Given the description of an element on the screen output the (x, y) to click on. 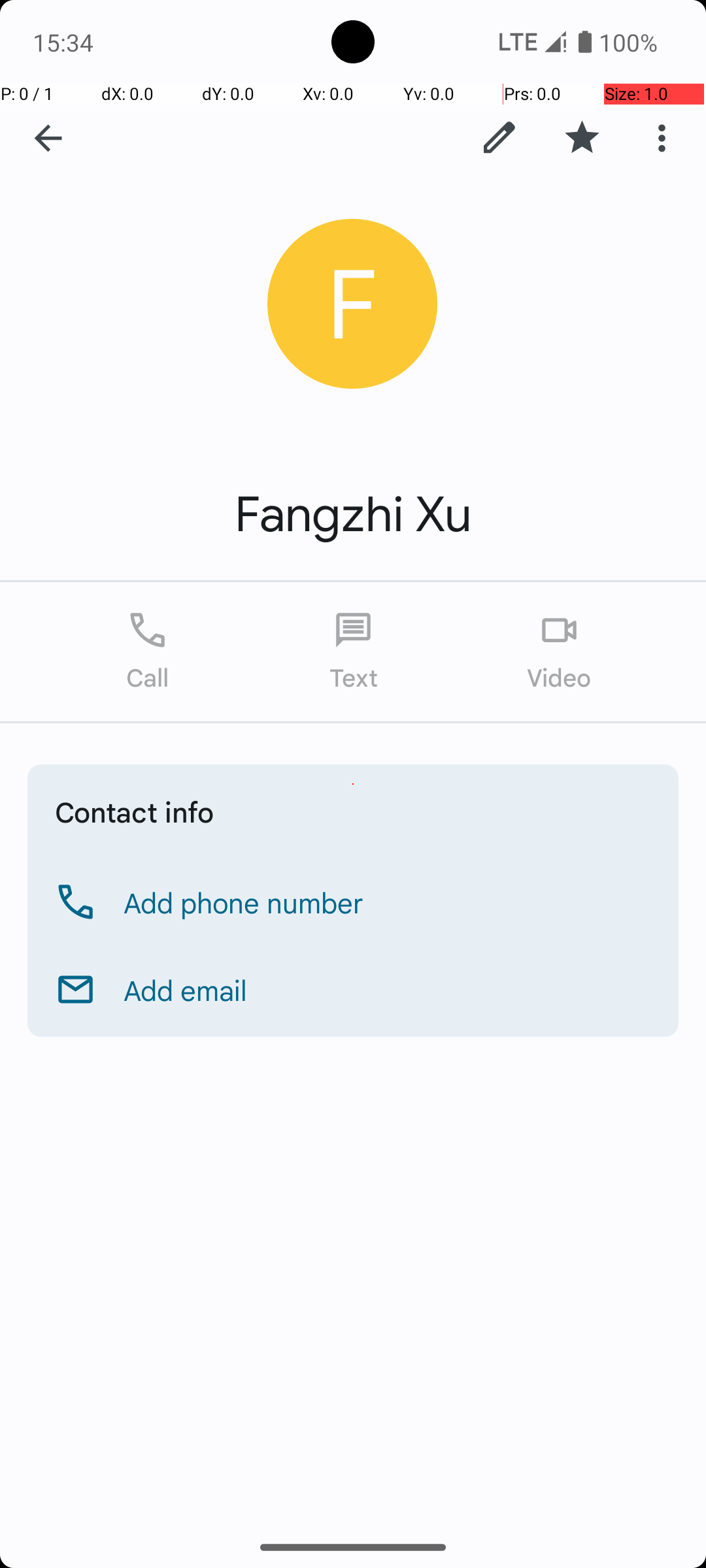
Edit contact Element type: android.widget.Button (498, 137)
Contact photo Element type: android.widget.ImageView (352, 303)
Text Element type: android.widget.TextView (353, 651)
Fangzhi Xu Element type: android.widget.TextView (352, 514)
Contact info Element type: android.widget.TextView (134, 811)
Add phone number Element type: android.widget.TextView (243, 901)
Add email Element type: android.widget.TextView (185, 989)
